Given the description of an element on the screen output the (x, y) to click on. 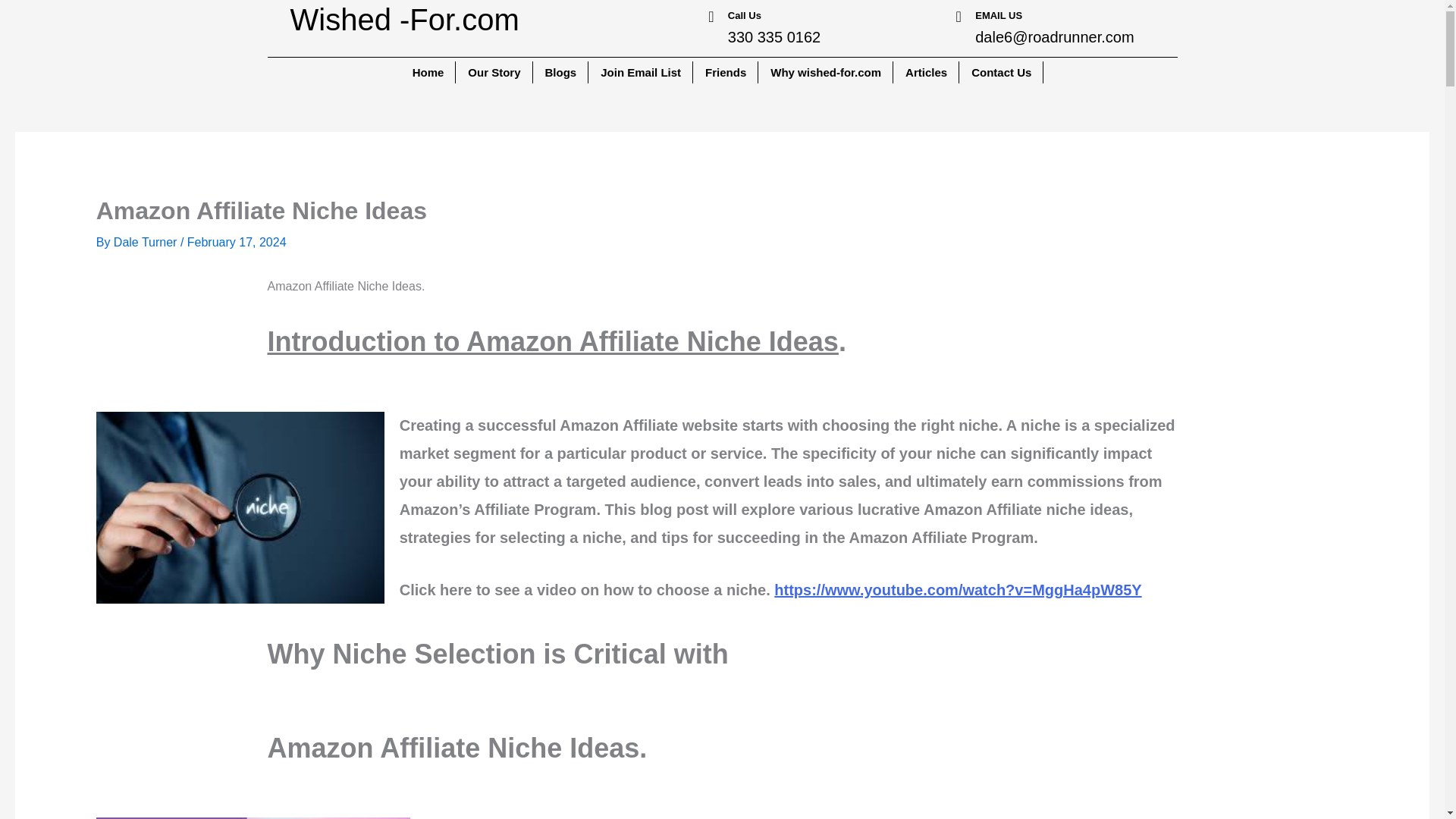
Why wished-for.com (825, 72)
View all posts by Dale Turner (146, 241)
Friends (726, 72)
Home (429, 72)
Wished -For.com (403, 19)
Join Email List (641, 72)
EMAIL US (998, 15)
Articles (926, 72)
Contact Us (1001, 72)
Dale Turner (146, 241)
Call Us (744, 15)
Our Story (494, 72)
Blogs (561, 72)
